Given the description of an element on the screen output the (x, y) to click on. 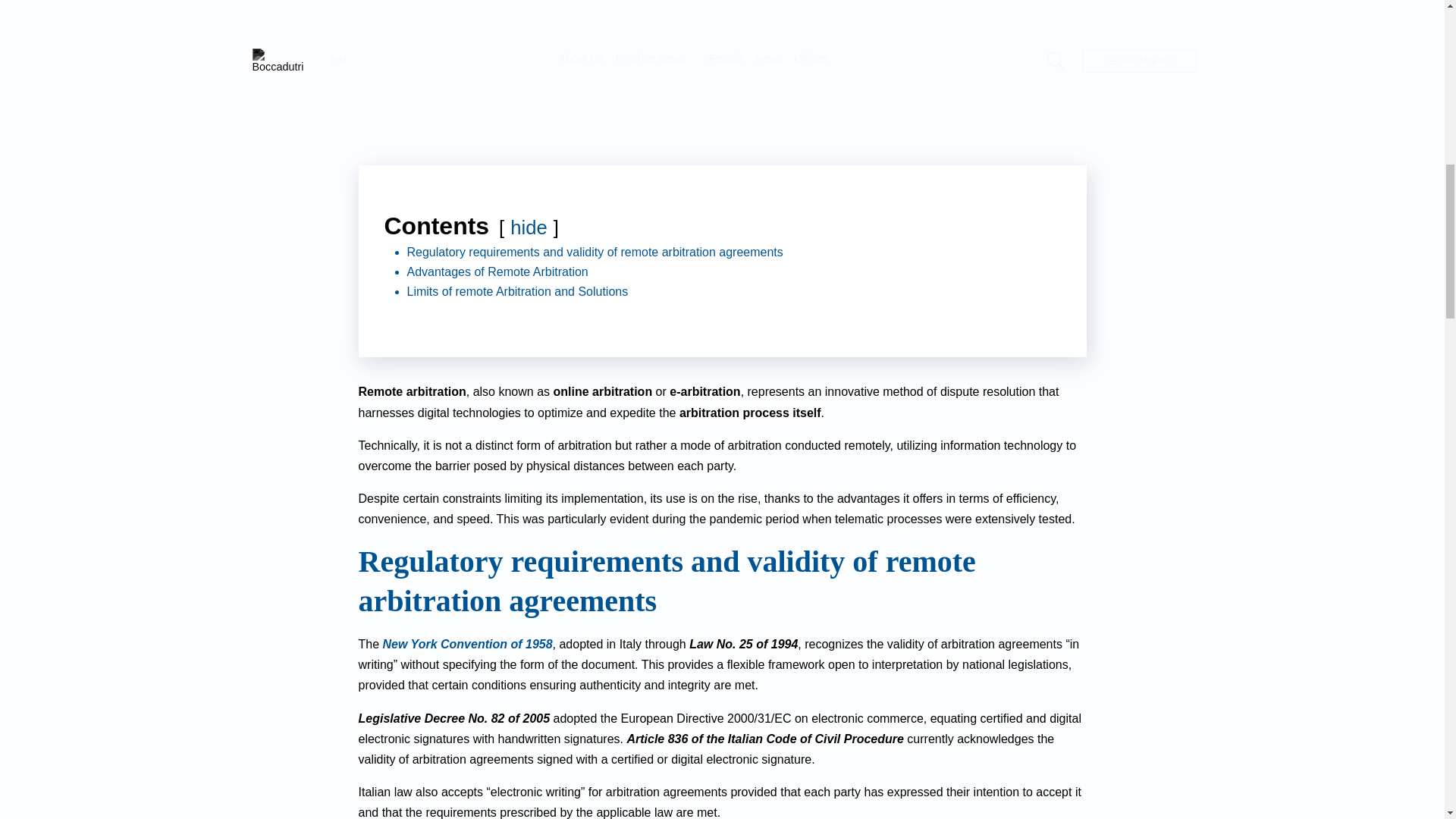
Remote arbitration: online dispute resolution 1 (722, 64)
